Given the description of an element on the screen output the (x, y) to click on. 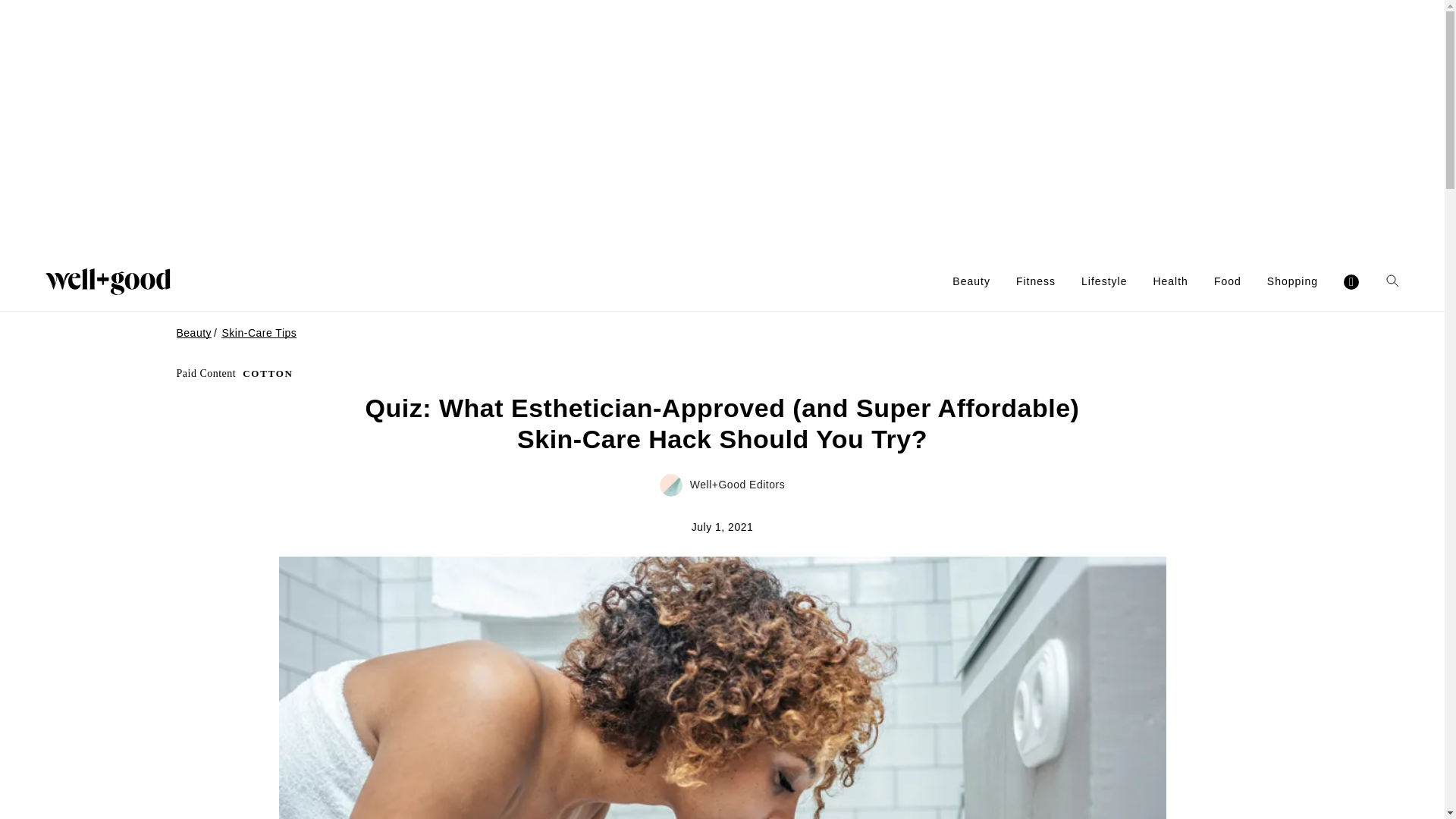
Shopping (1291, 281)
Lifestyle (1103, 281)
Food (1227, 281)
Health (1170, 281)
Fitness (1035, 281)
Beauty (971, 281)
